Given the description of an element on the screen output the (x, y) to click on. 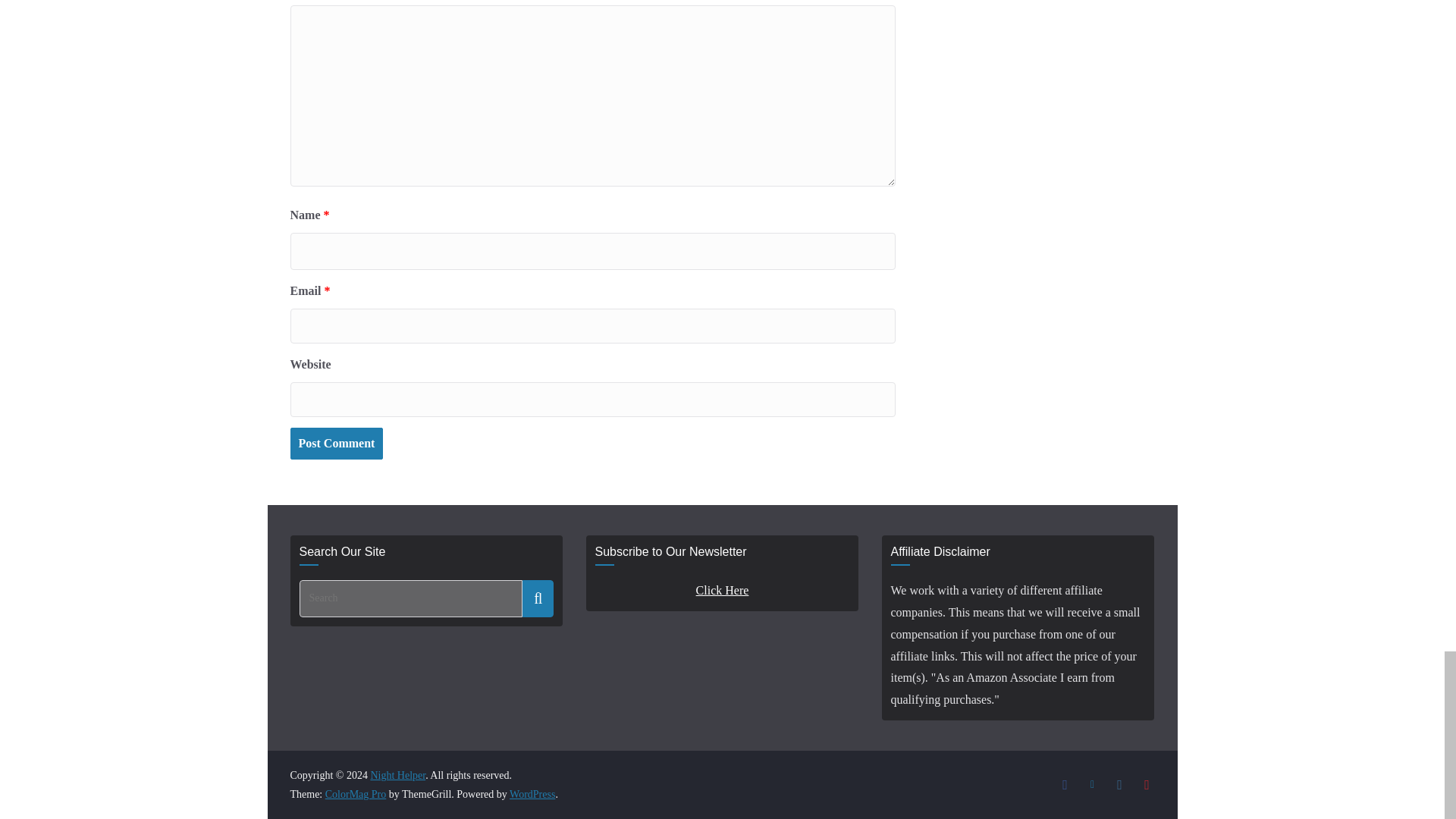
Post Comment (335, 443)
